Given the description of an element on the screen output the (x, y) to click on. 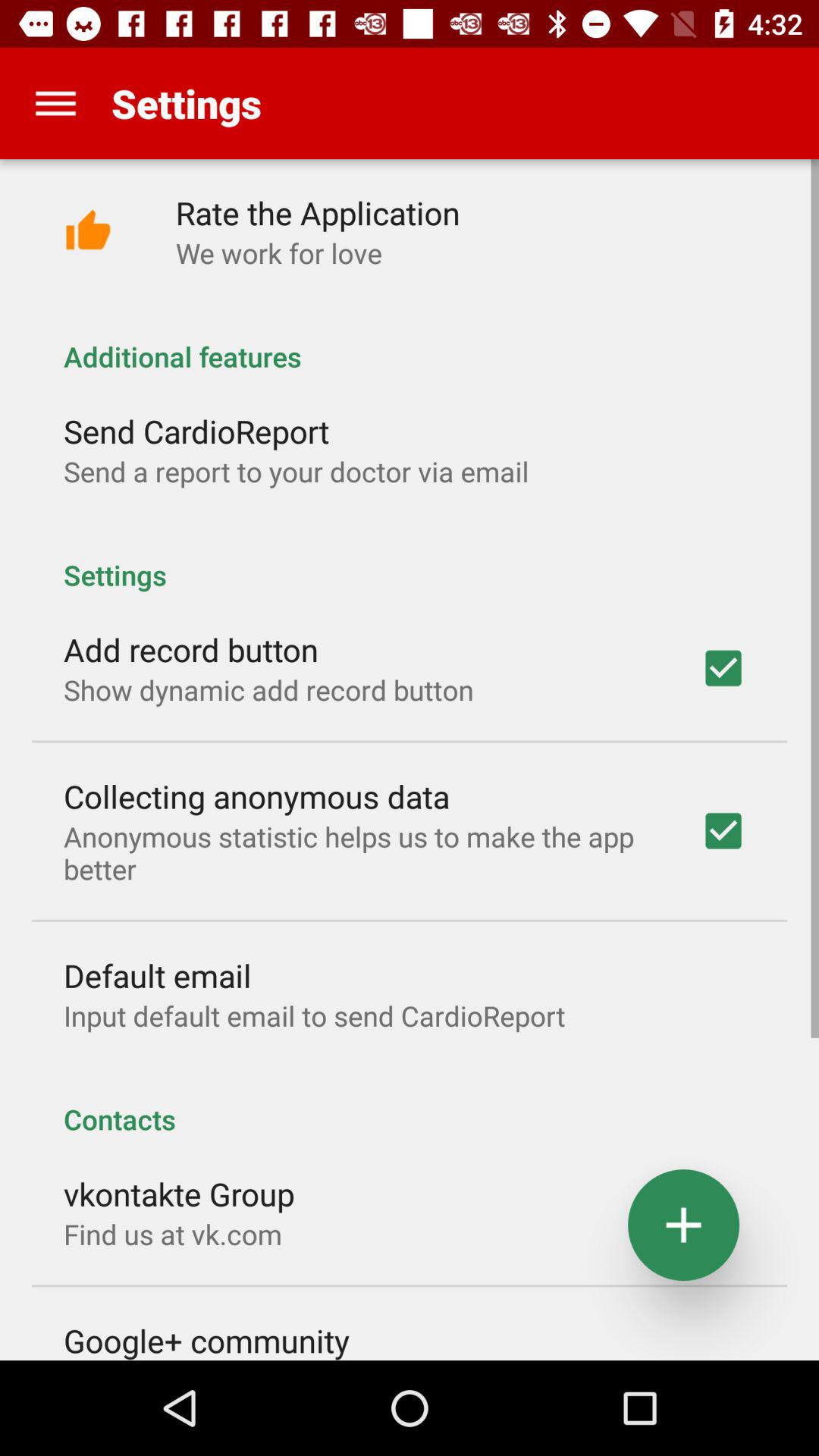
flip until the collecting anonymous data app (256, 795)
